Given the description of an element on the screen output the (x, y) to click on. 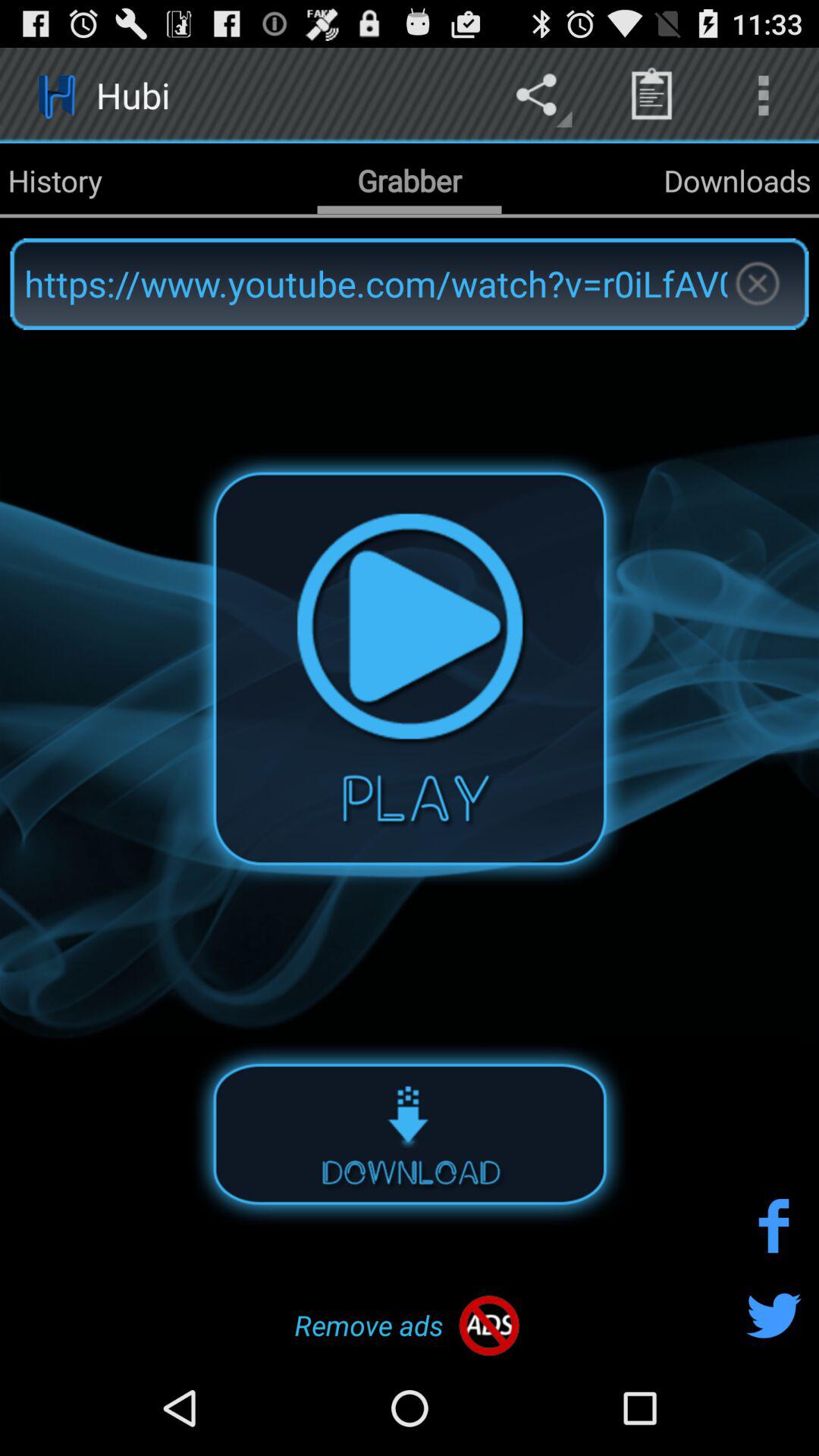
close (756, 283)
